Given the description of an element on the screen output the (x, y) to click on. 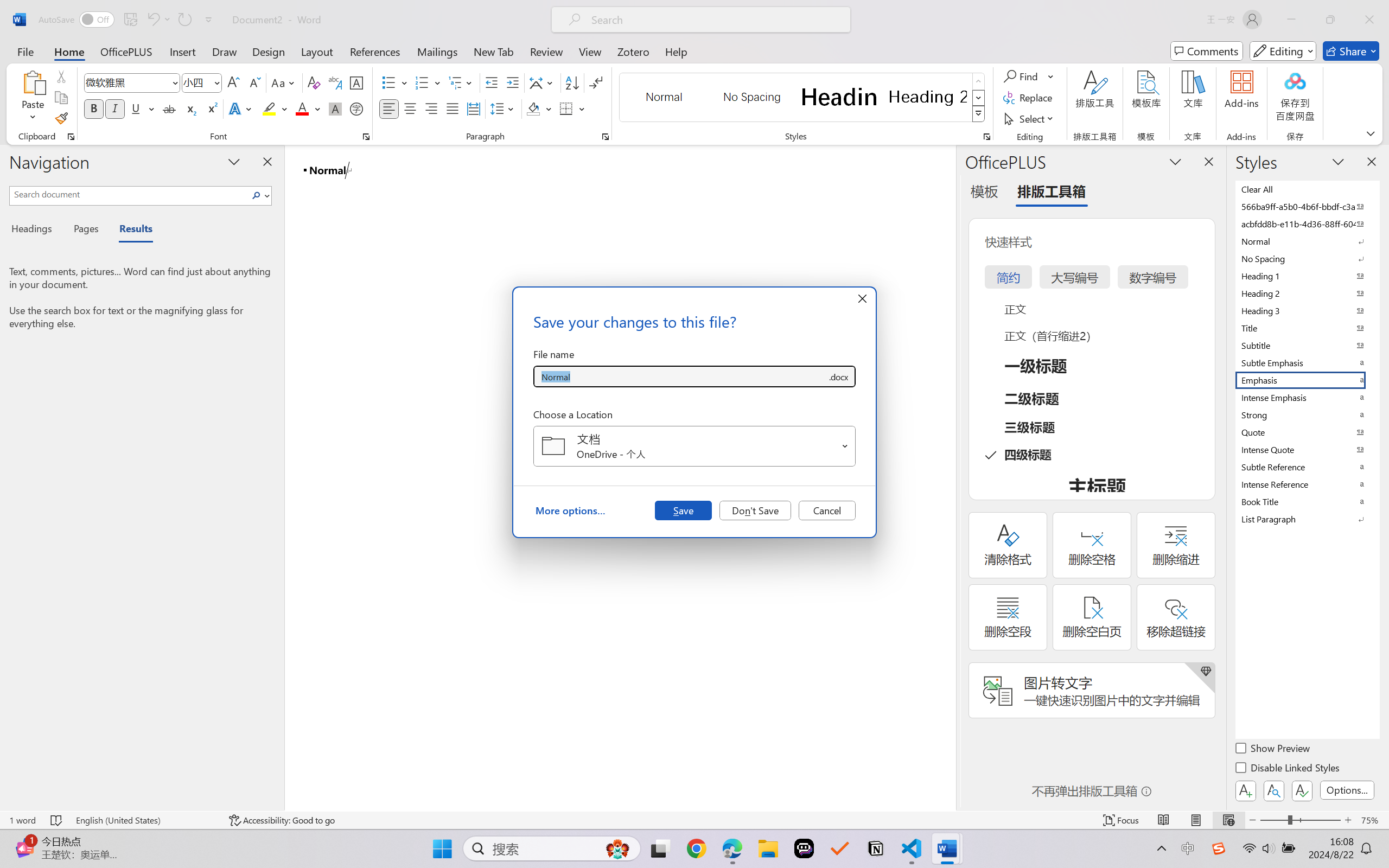
Change Case (284, 82)
Poe (804, 848)
Intense Reference (1306, 484)
Search (256, 195)
AutomationID: DynamicSearchBoxGleamImage (617, 848)
Replace... (1029, 97)
Headings (35, 229)
Intense Emphasis (1306, 397)
Word Count 1 word (21, 819)
Customize Quick Access Toolbar (208, 19)
